Given the description of an element on the screen output the (x, y) to click on. 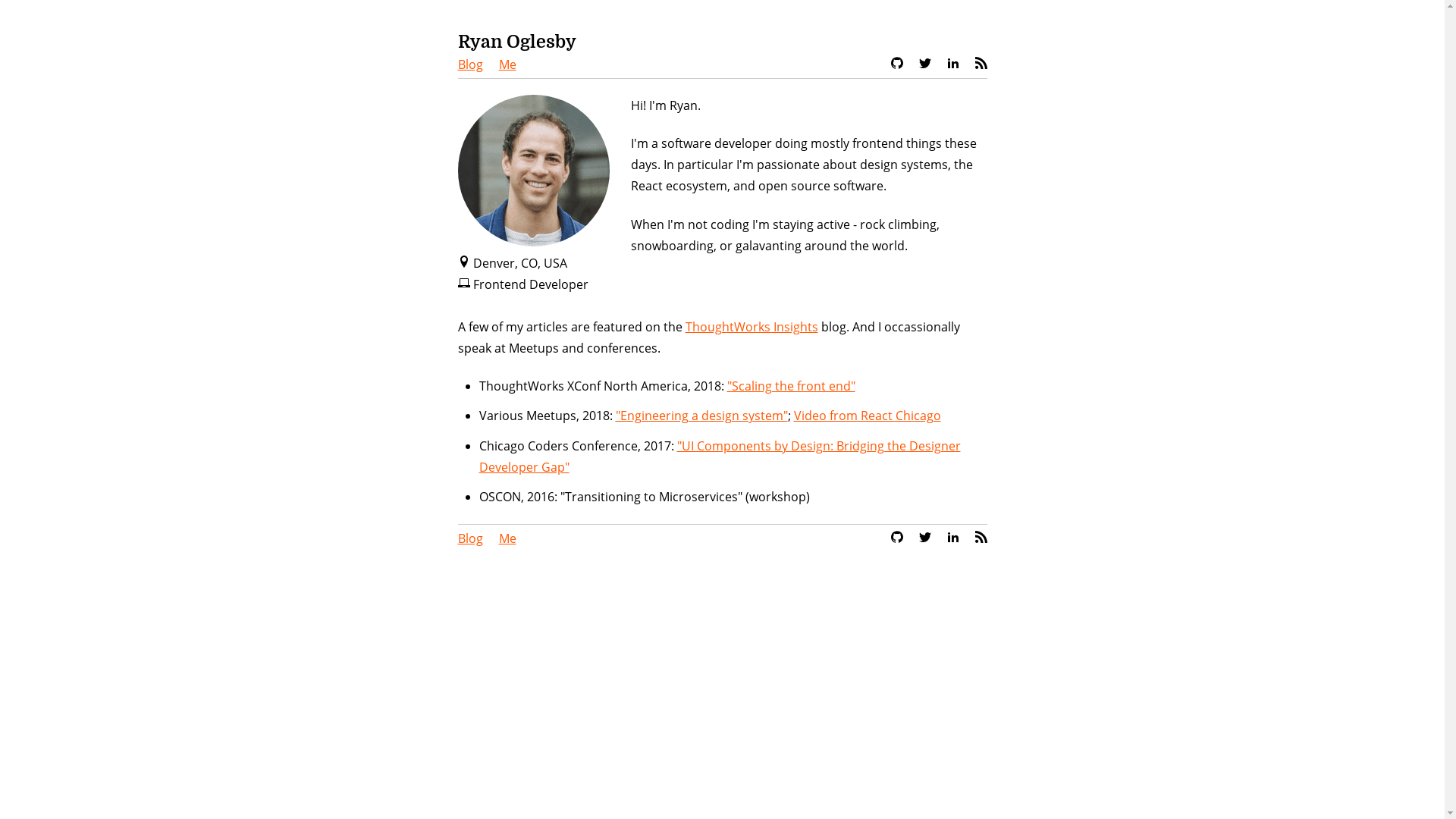
Me Element type: text (507, 64)
TwitterThe Twitter logo is a small bird in flight. Element type: text (925, 64)
RSS FeedThe RSS Feed logo is . Element type: text (981, 538)
GithubThe Github logo is an octocat. Element type: text (896, 64)
Blog Element type: text (470, 64)
GithubThe Github logo is an octocat. Element type: text (896, 538)
RSS FeedThe RSS Feed logo is . Element type: text (981, 64)
ThoughtWorks Insights Element type: text (751, 326)
"Engineering a design system" Element type: text (701, 415)
Video from React Chicago Element type: text (866, 415)
Blog Element type: text (470, 538)
Me Element type: text (507, 538)
TwitterThe Twitter logo is a small bird in flight. Element type: text (925, 538)
Ryan Oglesby Element type: text (517, 41)
"Scaling the front end" Element type: text (790, 385)
